Given the description of an element on the screen output the (x, y) to click on. 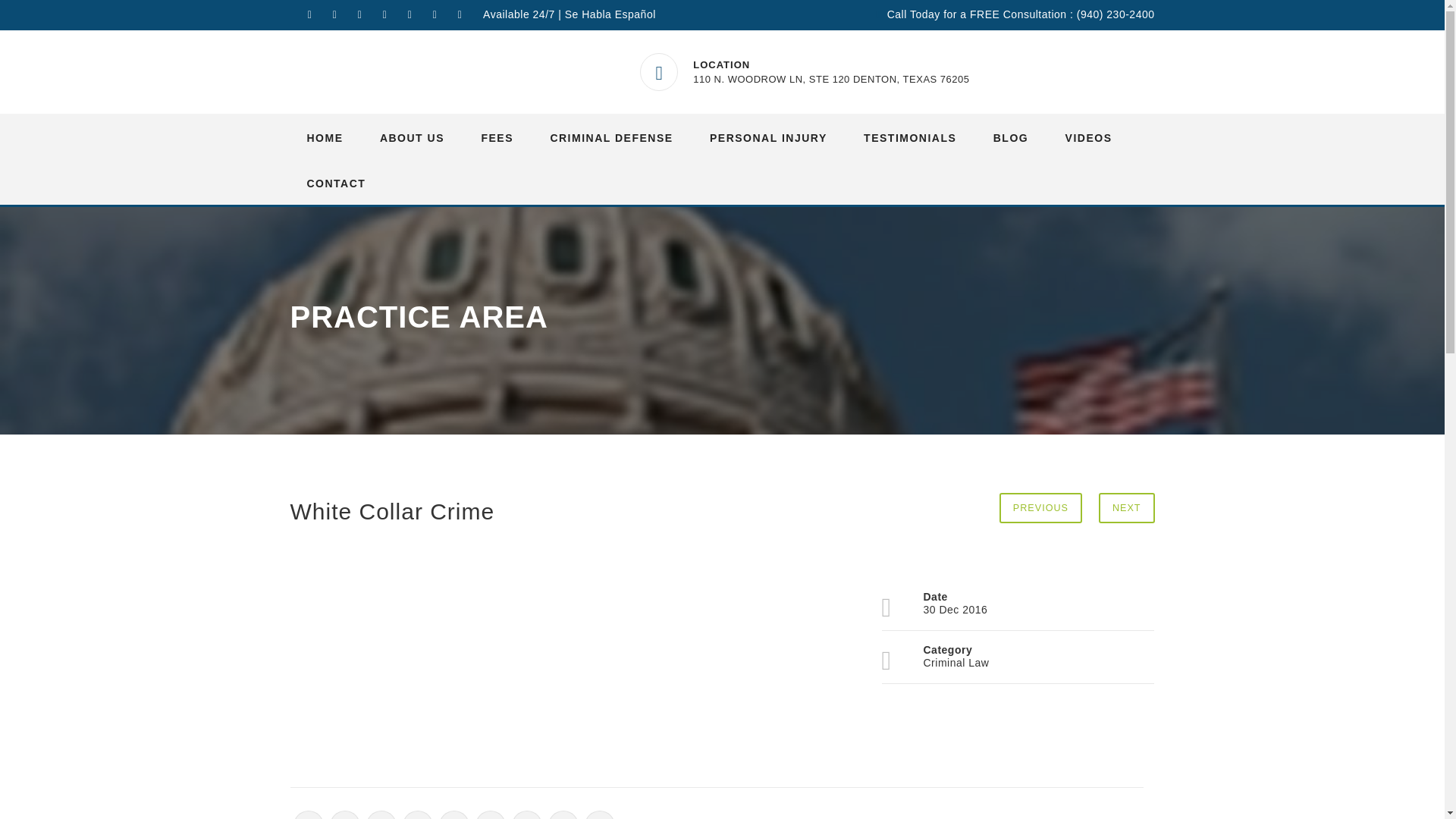
ABOUT US (411, 136)
FEES (496, 136)
HOME (324, 136)
CRIMINAL DEFENSE (610, 136)
PERSONAL INJURY (768, 136)
